Given the description of an element on the screen output the (x, y) to click on. 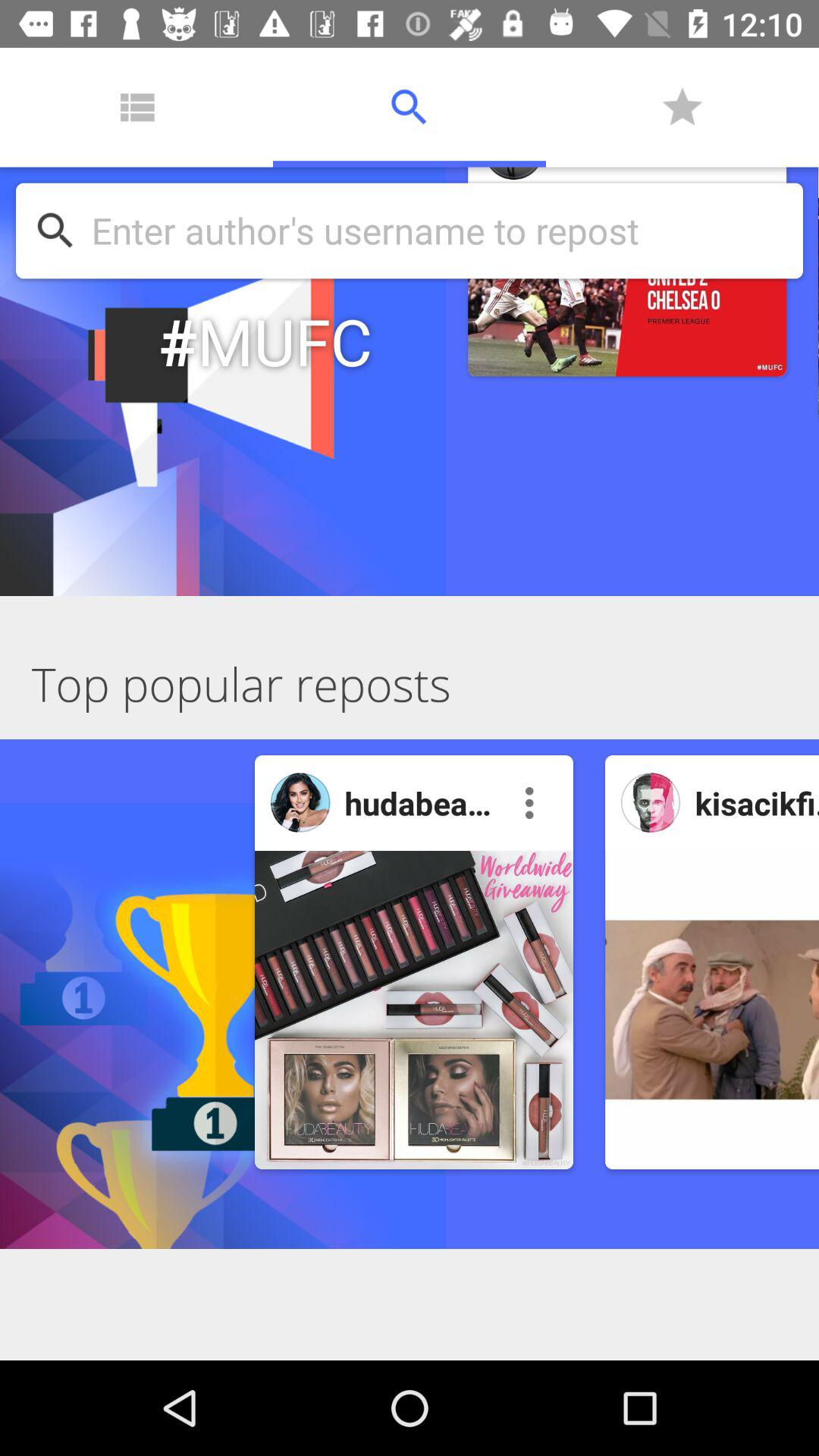
search box (439, 230)
